Given the description of an element on the screen output the (x, y) to click on. 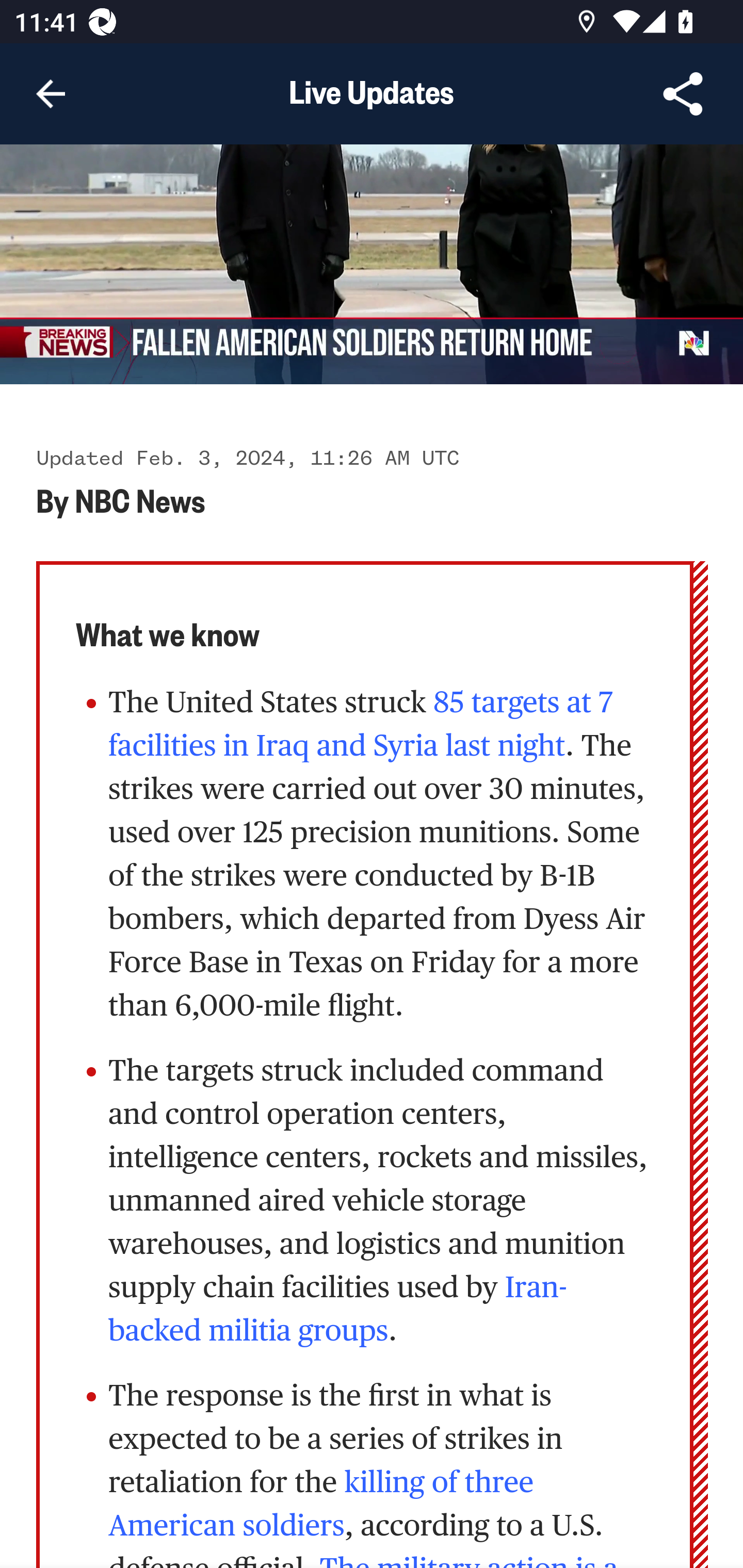
Navigate up (50, 93)
Share Article, button (683, 94)
indeterminate  01:26   / 02:44   (371, 265)
Iran-backed militia groups (338, 1310)
killing of three American soldiers (321, 1506)
